Given the description of an element on the screen output the (x, y) to click on. 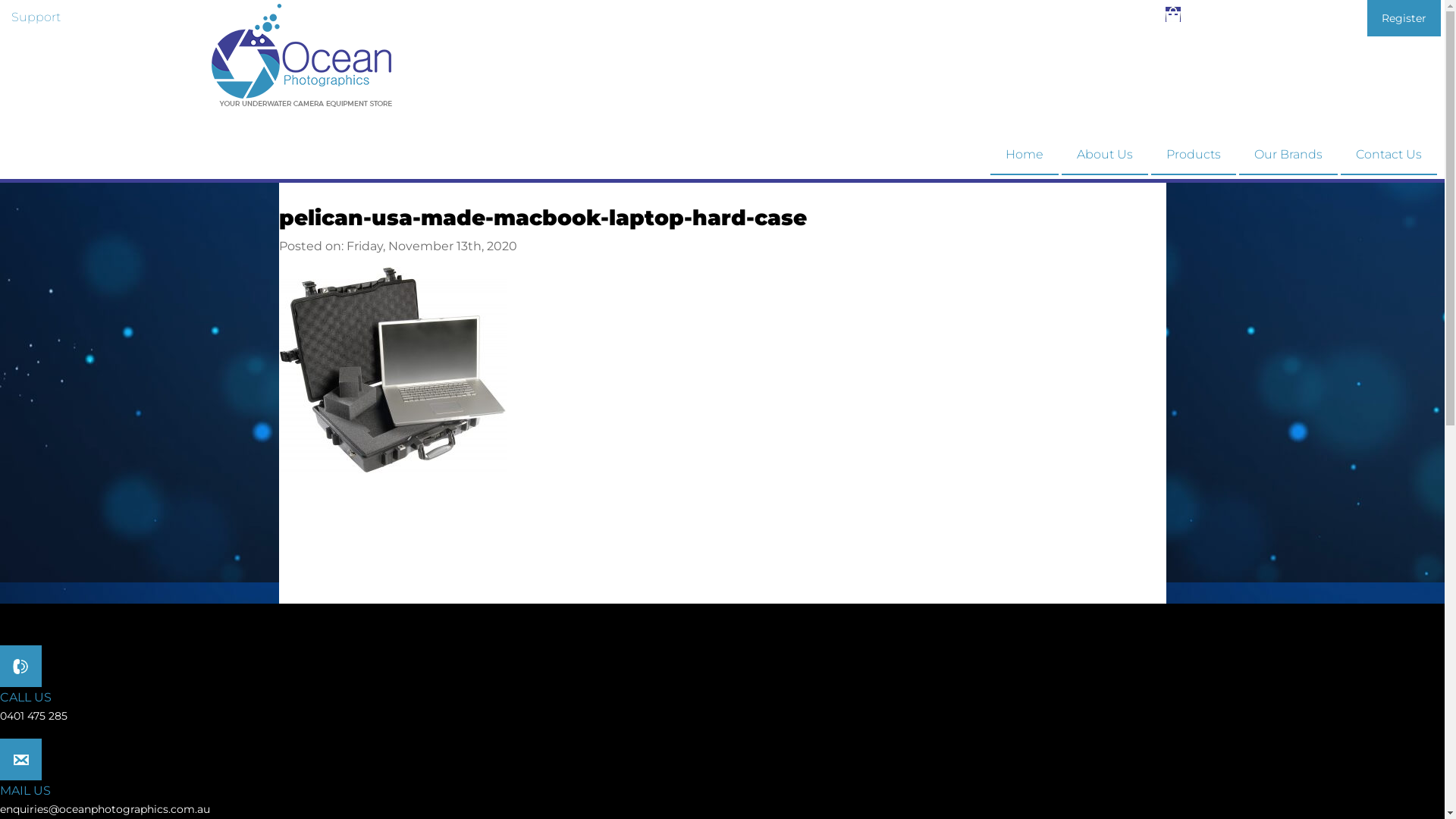
Register Element type: text (1403, 18)
Quote Requests Element type: text (1245, 18)
Login Element type: text (1326, 18)
Contact Us Element type: text (1388, 154)
Legal Element type: text (102, 17)
Our Brands Element type: text (1288, 154)
Home Element type: text (1024, 154)
About us Element type: text (171, 17)
About Us Element type: text (1104, 154)
Products Element type: text (1193, 154)
Support Element type: text (36, 17)
